Given the description of an element on the screen output the (x, y) to click on. 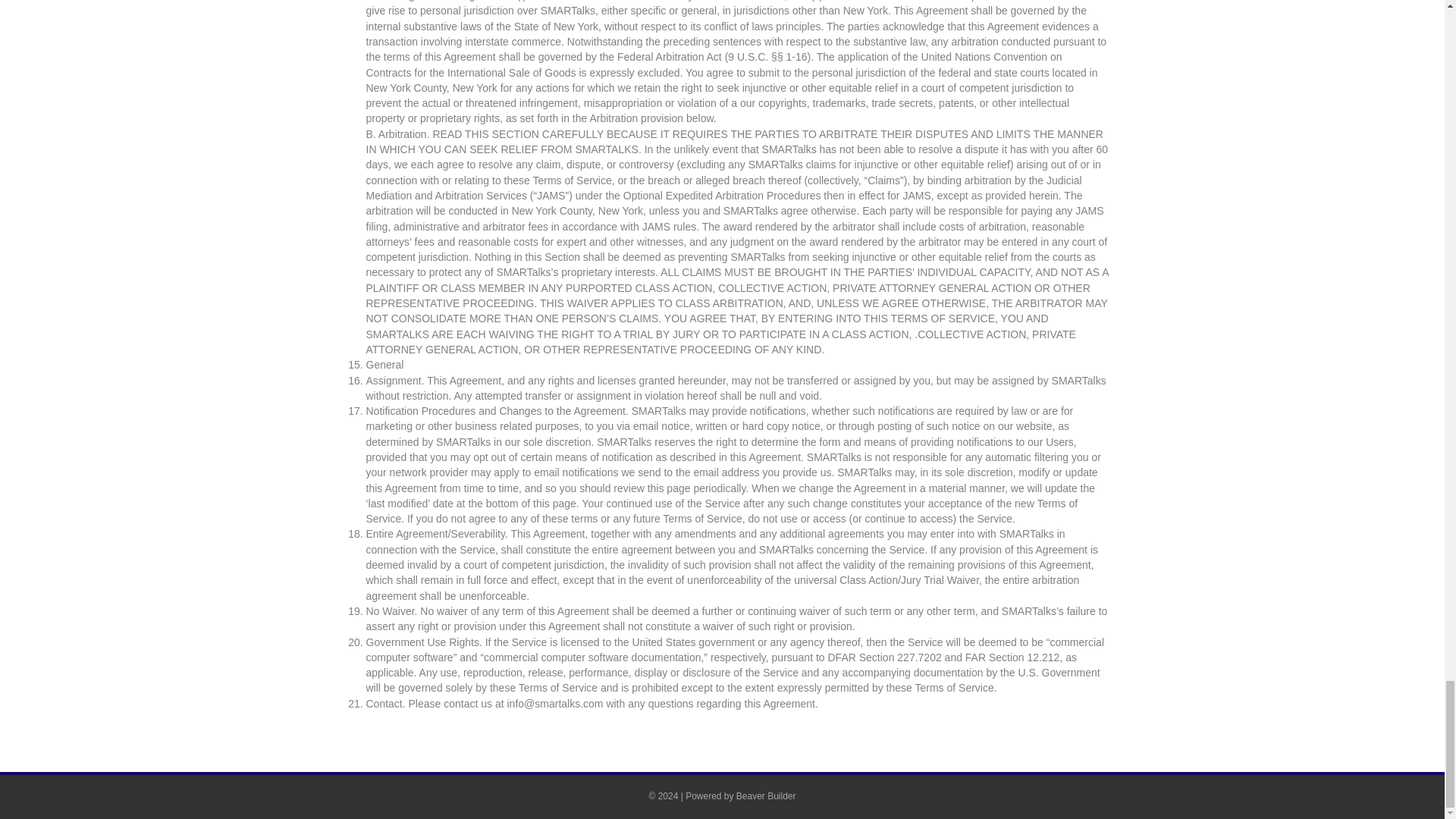
Beaver Builder (766, 796)
WordPress Page Builder Plugin (766, 796)
